Given the description of an element on the screen output the (x, y) to click on. 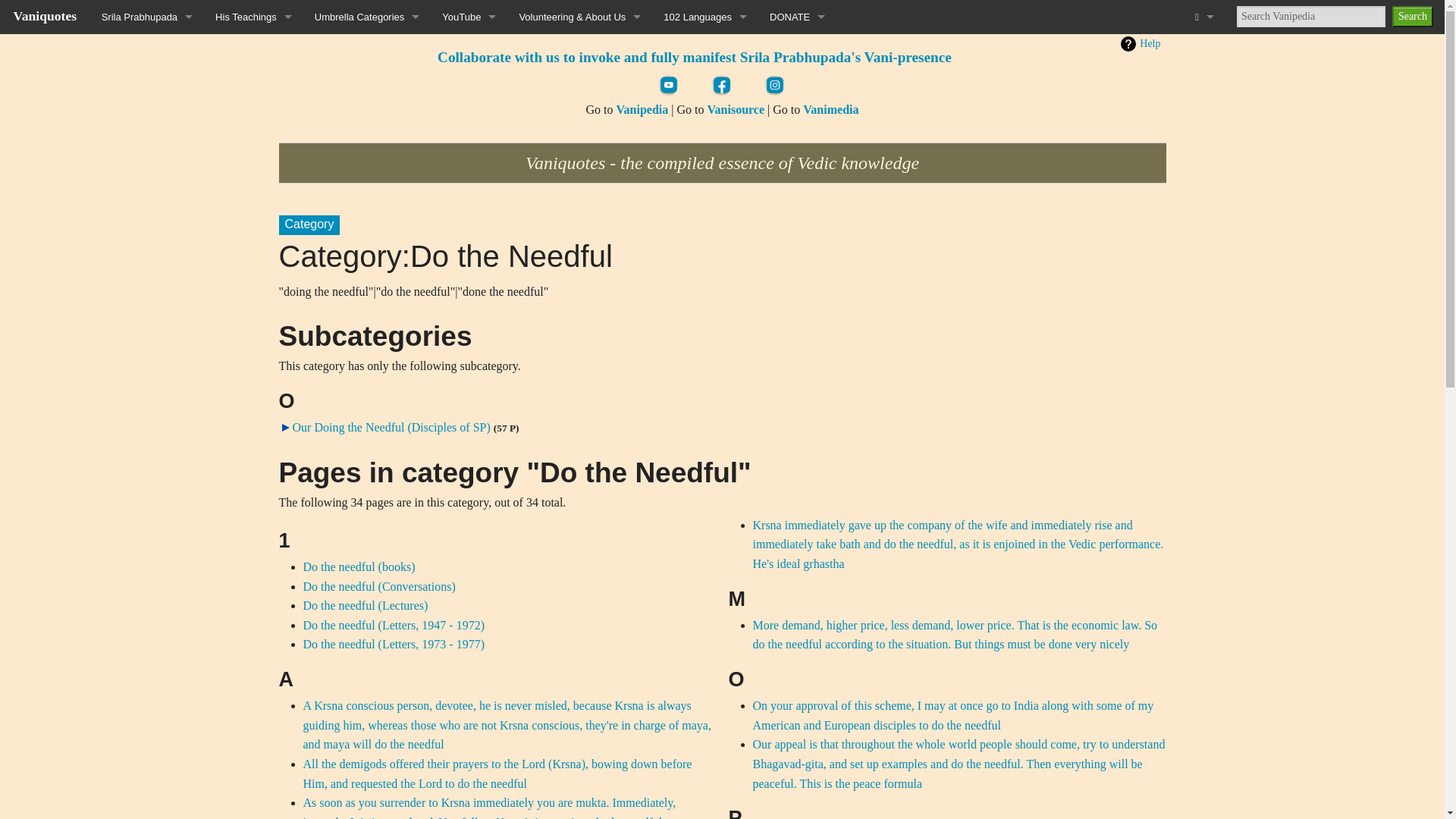
vanipedia:Main Page (641, 109)
Vaniquotes (44, 15)
vanimedia:Main Page (831, 109)
Contains 0 subcategories, 57 pages, and 0 files (506, 428)
vanisource:Main Page (735, 109)
Srila Prabhupada (146, 17)
Search (1411, 16)
